Given the description of an element on the screen output the (x, y) to click on. 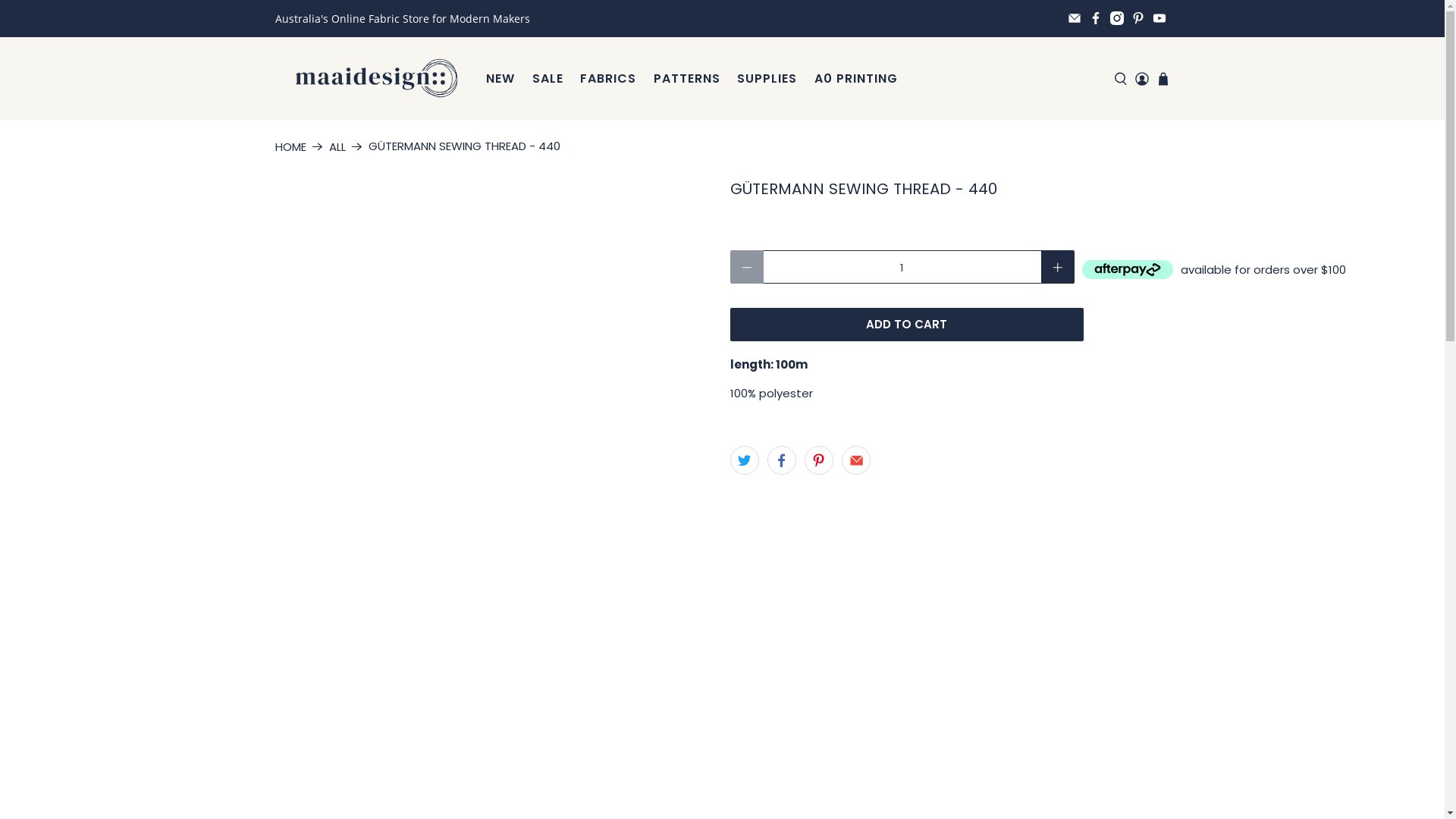
A0 PRINTING Element type: text (855, 78)
FABRICS Element type: text (608, 78)
SUPPLIES Element type: text (767, 78)
Share this on Pinterest Element type: hover (818, 459)
Share this on Facebook Element type: hover (781, 459)
PATTERNS Element type: text (686, 78)
NEW Element type: text (500, 78)
SALE Element type: text (547, 78)
ALL Element type: text (337, 146)
Share this on Twitter Element type: hover (743, 459)
ADD TO CART Element type: text (905, 324)
HOME Element type: text (289, 146)
Email this to a friend Element type: hover (855, 459)
